Given the description of an element on the screen output the (x, y) to click on. 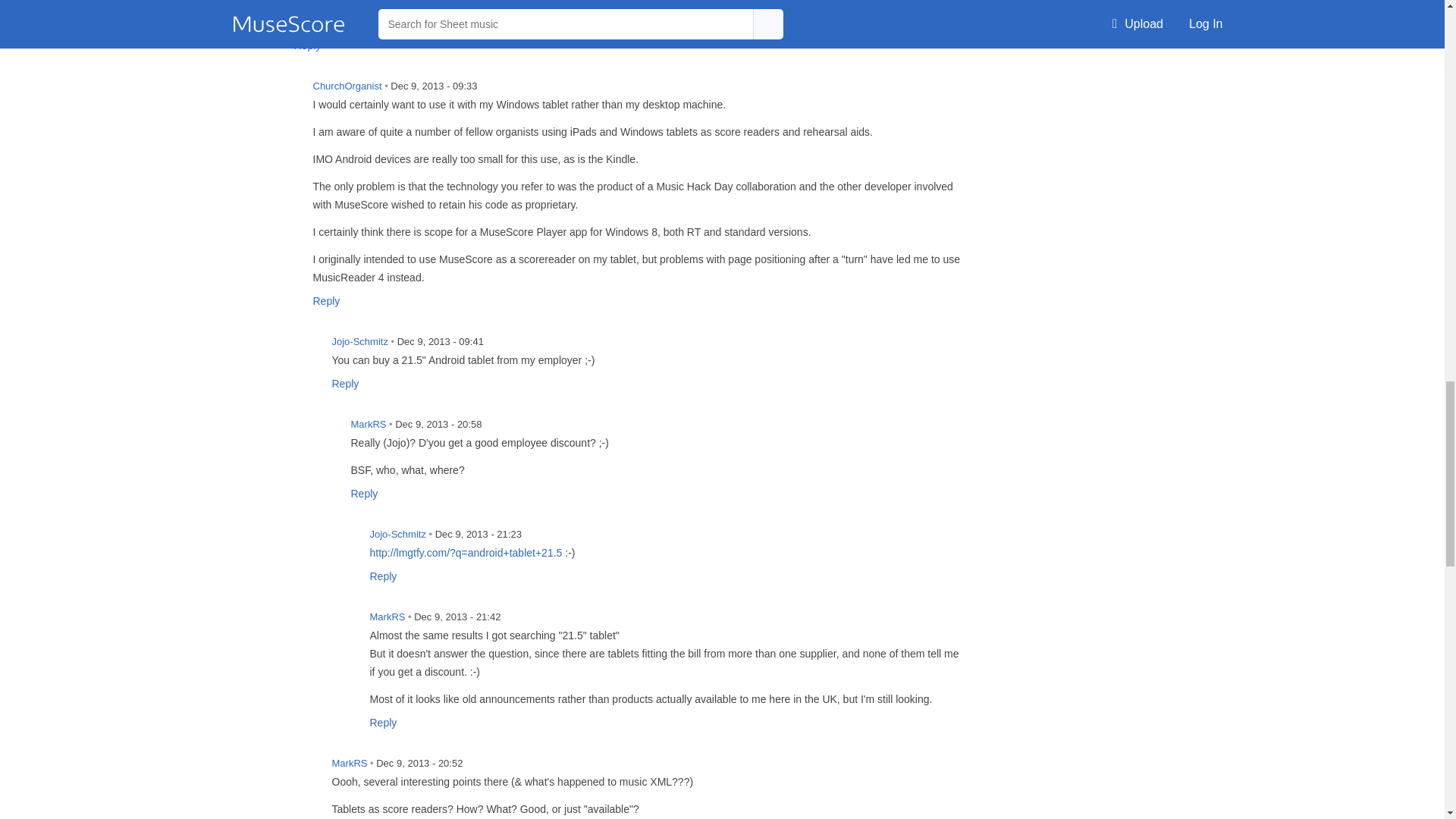
ChurchOrganist (285, 95)
MarkRS (323, 433)
Jojo-Schmitz (342, 543)
Jojo-Schmitz (304, 350)
